Given the description of an element on the screen output the (x, y) to click on. 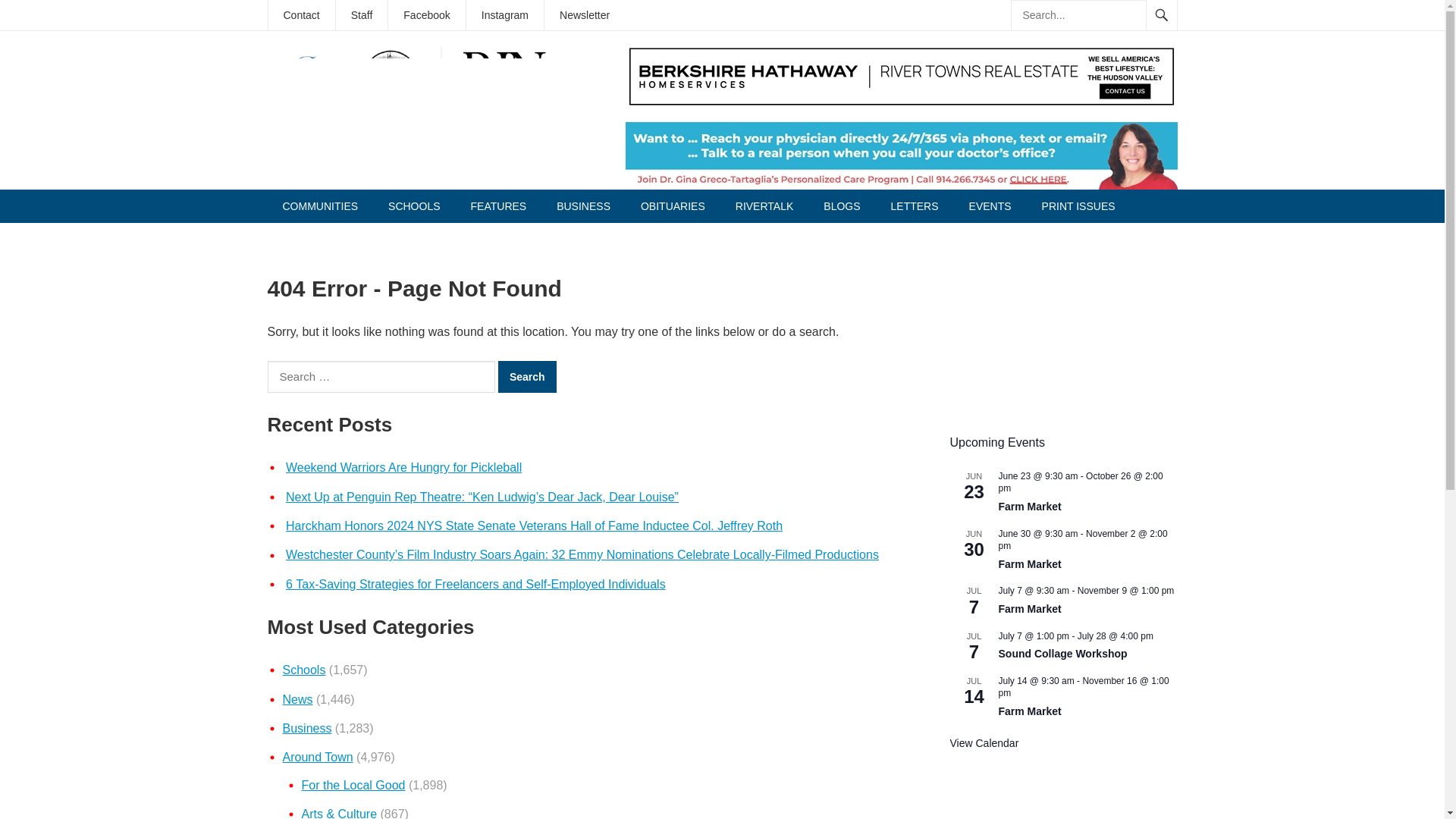
Staff (362, 15)
Event Series (1161, 635)
Farm Market (1029, 608)
Facebook (426, 15)
COMMUNITIES (319, 205)
Farm Market (1029, 563)
Search (526, 377)
FEATURES (498, 205)
View more events. (983, 743)
Event Series (1161, 633)
Sound Collage Workshop (1061, 653)
Newsletter (584, 15)
Search (526, 377)
Farm Market (1029, 711)
BUSINESS (583, 205)
